Given the description of an element on the screen output the (x, y) to click on. 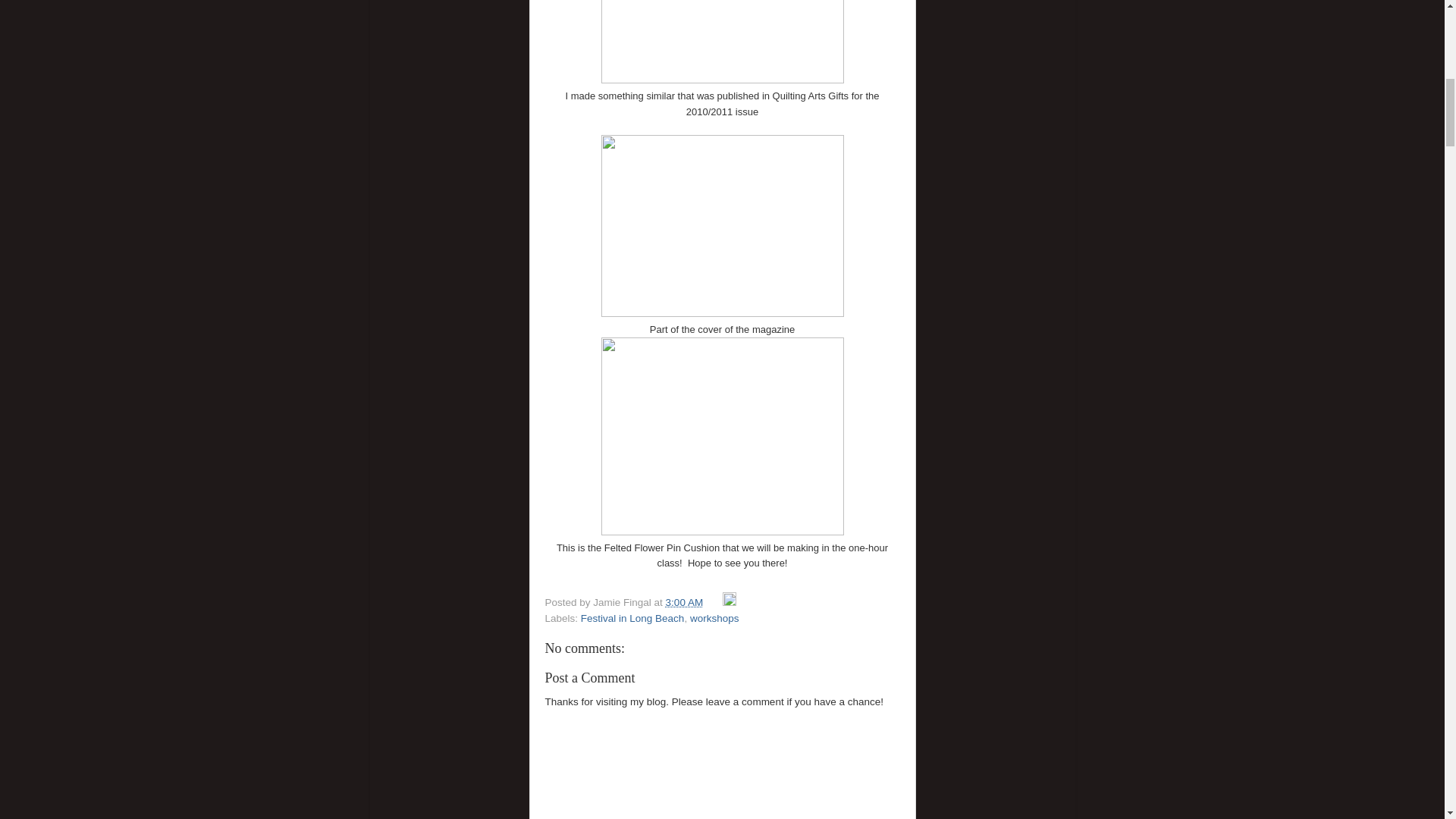
Festival in Long Beach (632, 618)
3:00 AM (684, 602)
Edit Post (729, 602)
workshops (714, 618)
permanent link (684, 602)
Email Post (714, 602)
